Given the description of an element on the screen output the (x, y) to click on. 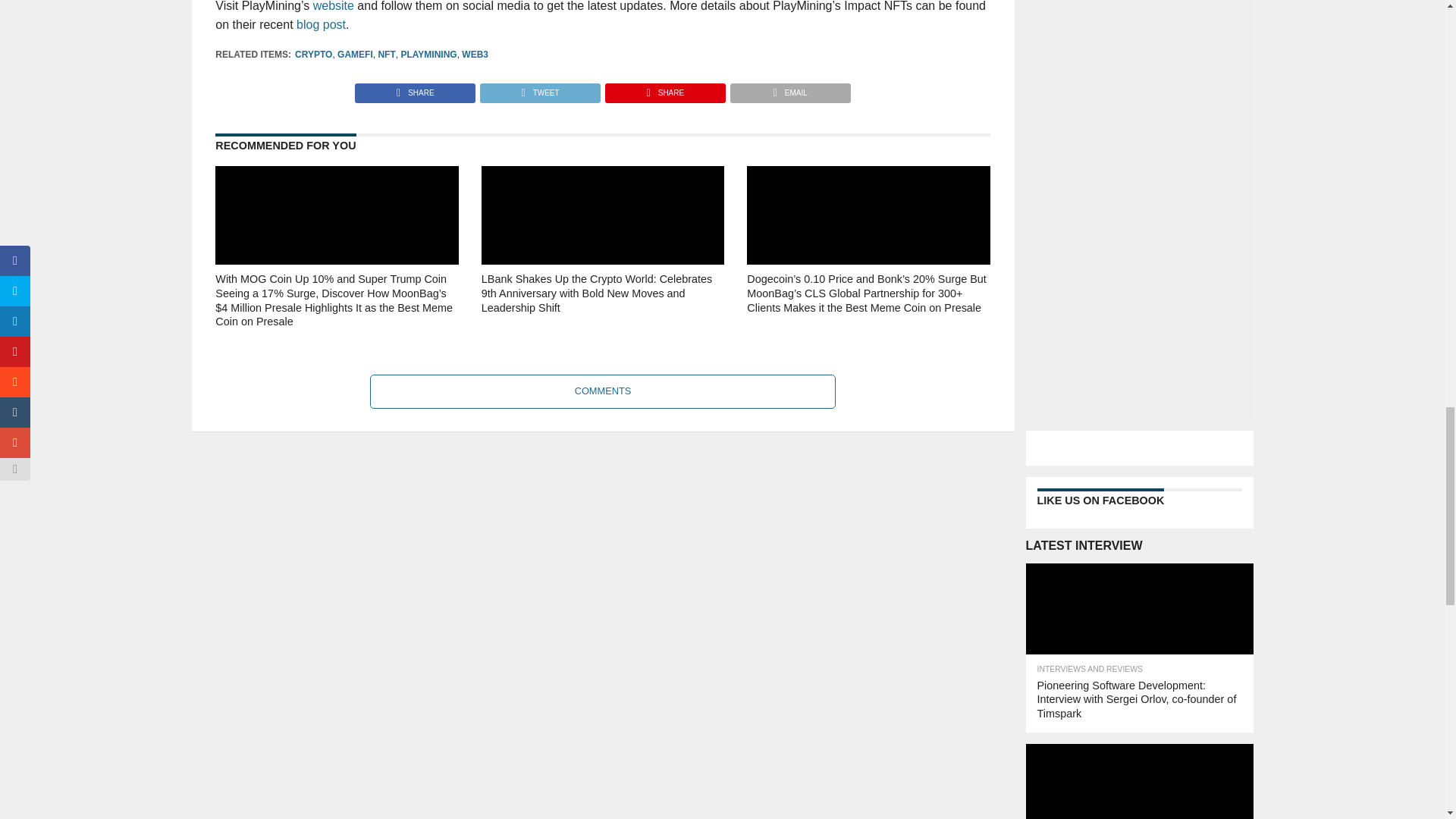
Share on Facebook (415, 88)
Pin This Post (664, 88)
Tweet This Post (539, 88)
